Given the description of an element on the screen output the (x, y) to click on. 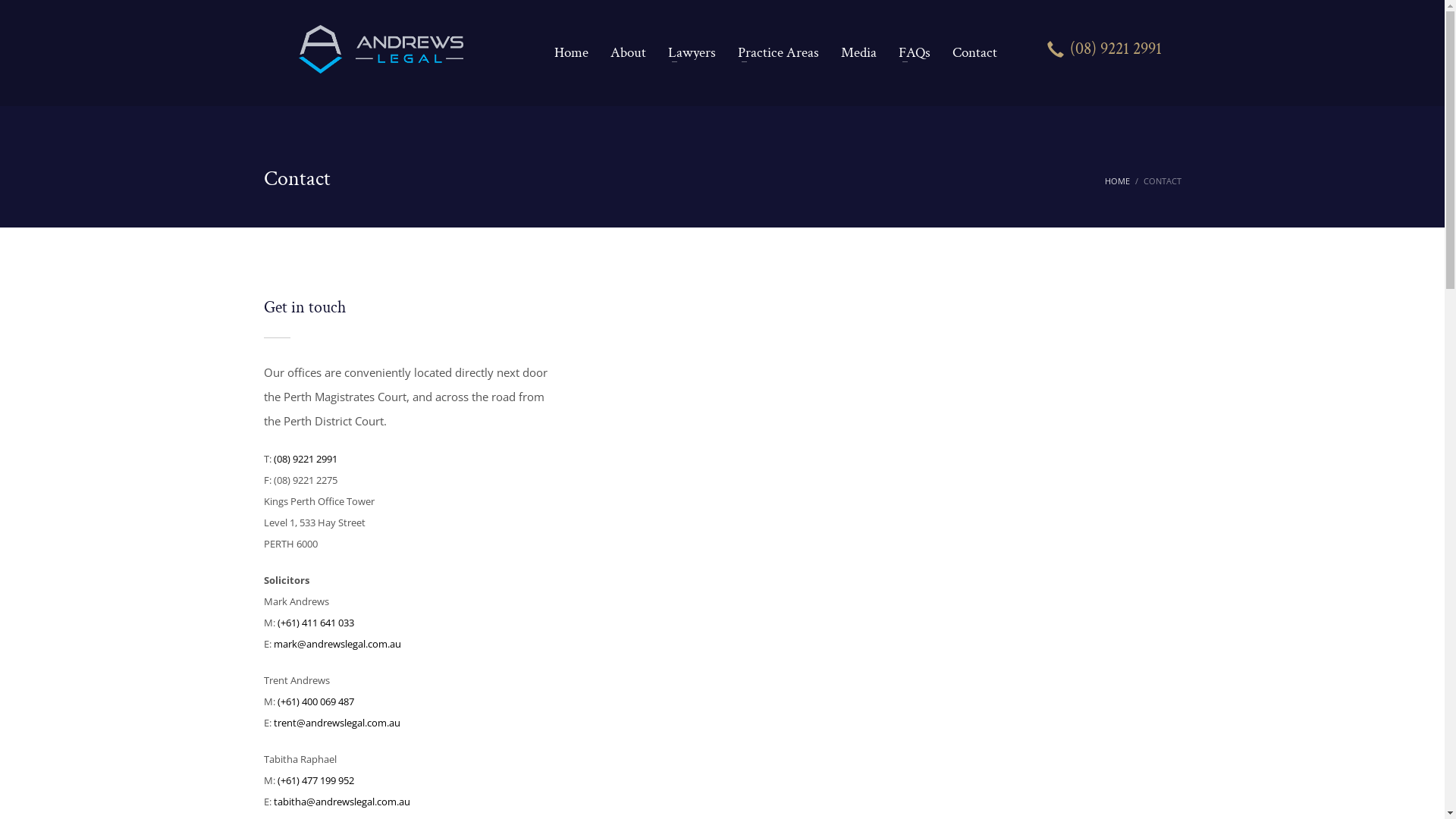
Home Element type: text (570, 52)
Media Element type: text (857, 52)
(08) 9221 2991 Element type: text (304, 458)
(+61) 477 199 952 Element type: text (315, 780)
About Element type: text (627, 52)
Practice Areas Element type: text (777, 52)
FAQs Element type: text (913, 52)
tabitha@andrewslegal.com.au Element type: text (341, 801)
Lawyers Element type: text (691, 52)
HOME Element type: text (1116, 180)
(08) 9221 2991 Element type: text (1103, 52)
(+61) 400 069 487 Element type: text (315, 701)
(+61) 411 641 033 Element type: text (315, 622)
trent@andrewslegal.com.au Element type: text (336, 722)
mark@andrewslegal.com.au Element type: text (336, 643)
Contact Element type: text (970, 52)
